Given the description of an element on the screen output the (x, y) to click on. 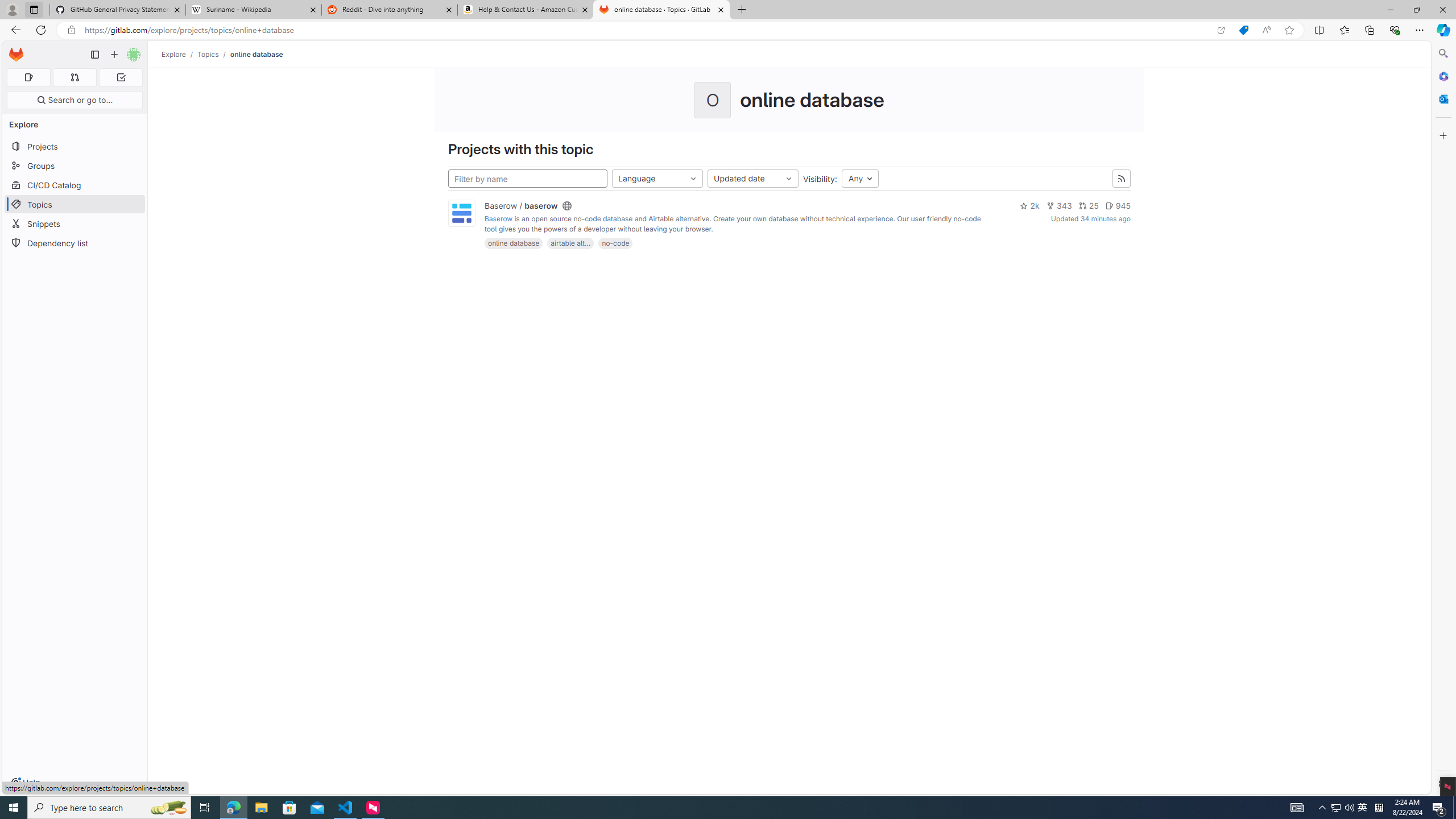
Class: s16 (567, 206)
Language (657, 178)
Topics (208, 53)
GitHub General Privacy Statement - GitHub Docs (117, 9)
Class: s16 dropdown-menu-toggle-icon (788, 178)
Topics/ (214, 53)
Class: s14 gl-mr-2 (1109, 205)
Any (860, 178)
CI/CD Catalog (74, 185)
App bar (728, 29)
